Given the description of an element on the screen output the (x, y) to click on. 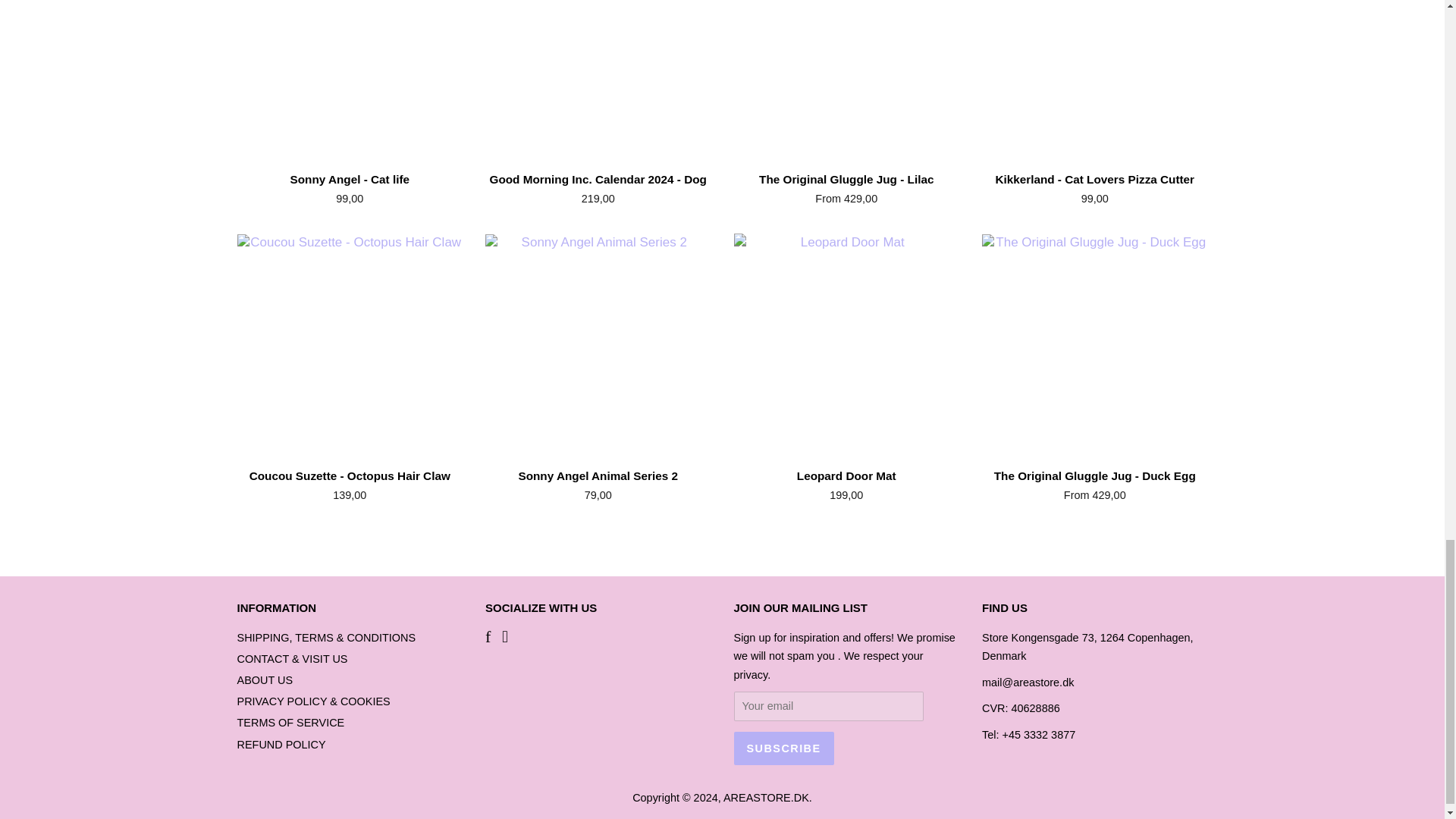
Subscribe (783, 748)
